Given the description of an element on the screen output the (x, y) to click on. 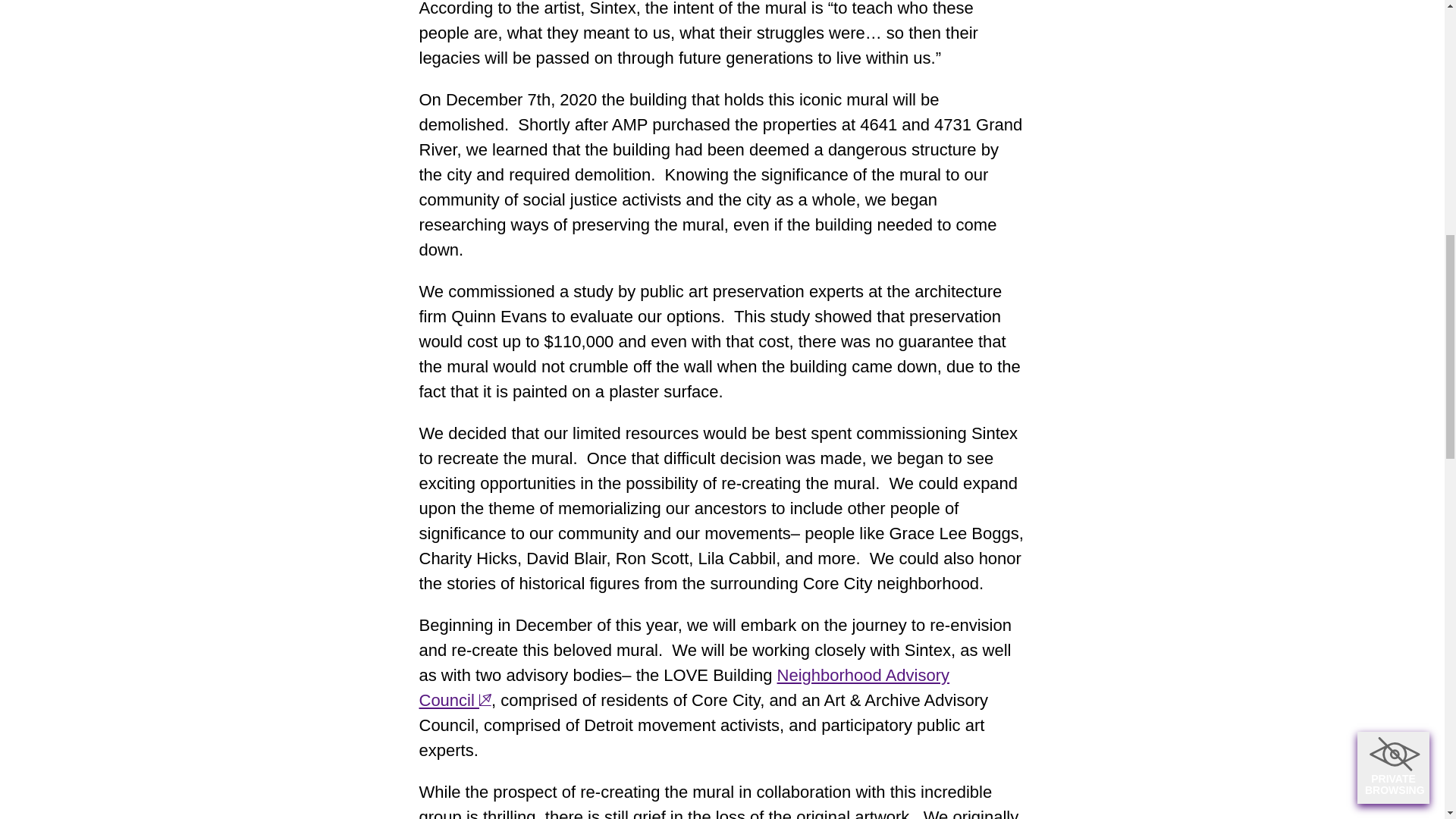
Neighborhood Advisory Council (684, 687)
